Given the description of an element on the screen output the (x, y) to click on. 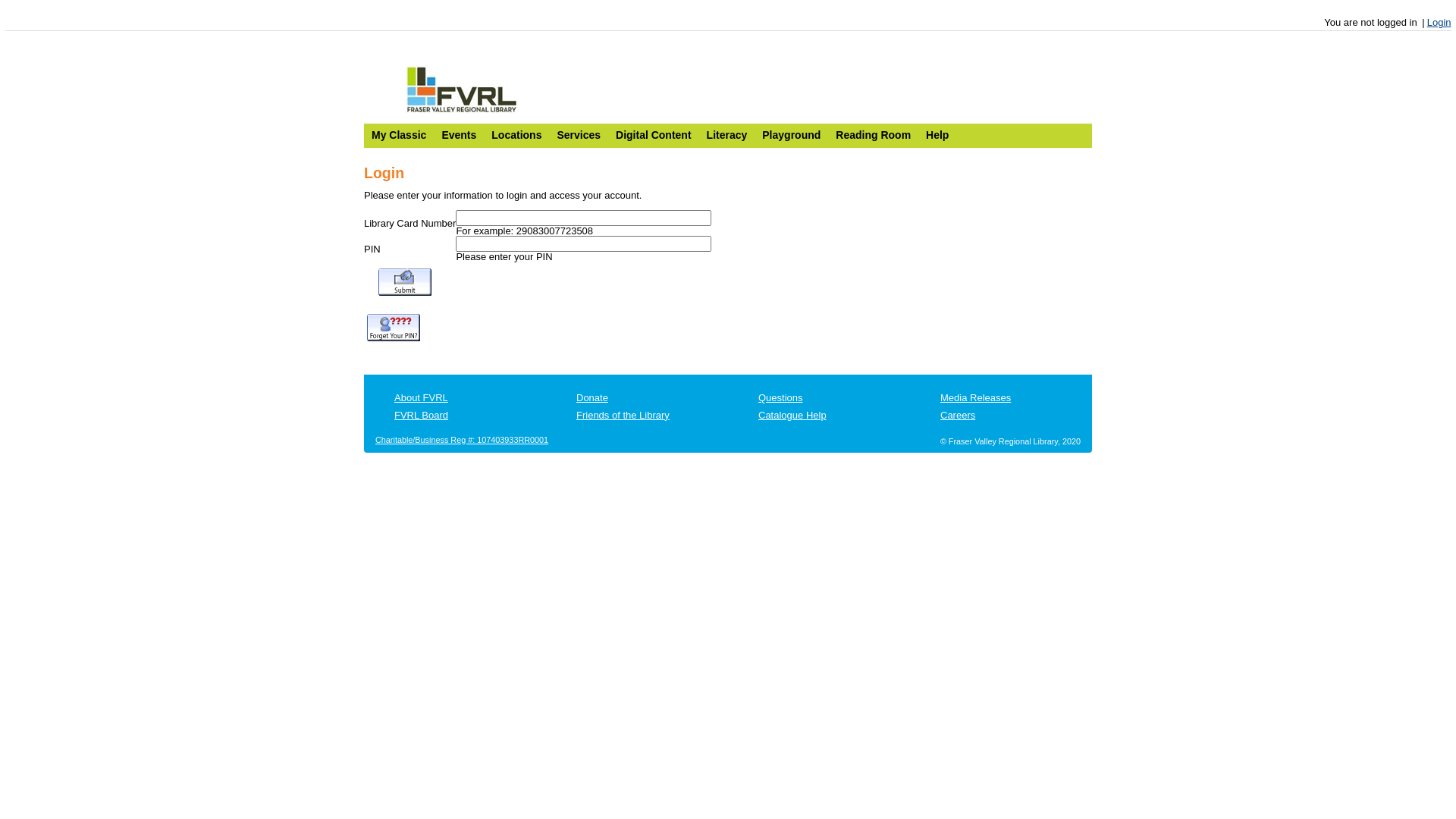
Playground Element type: text (791, 133)
Digital Content Element type: text (653, 133)
Questions Element type: text (780, 397)
My Classic Element type: text (398, 133)
About FVRL Element type: text (421, 397)
Careers Element type: text (957, 414)
Locations Element type: text (516, 133)
Literacy Element type: text (727, 133)
Catalogue Help Element type: text (792, 414)
Media Releases Element type: text (975, 397)
Help Element type: text (937, 133)
FVRL Board Element type: text (421, 414)
Login Element type: text (1439, 22)
Donate Element type: text (592, 397)
Charitable/Business Reg #: 107403933RR0001 Element type: text (461, 439)
Events Element type: text (458, 133)
Friends of the Library Element type: text (622, 414)
Reading Room Element type: text (873, 133)
Services Element type: text (578, 133)
